Given the description of an element on the screen output the (x, y) to click on. 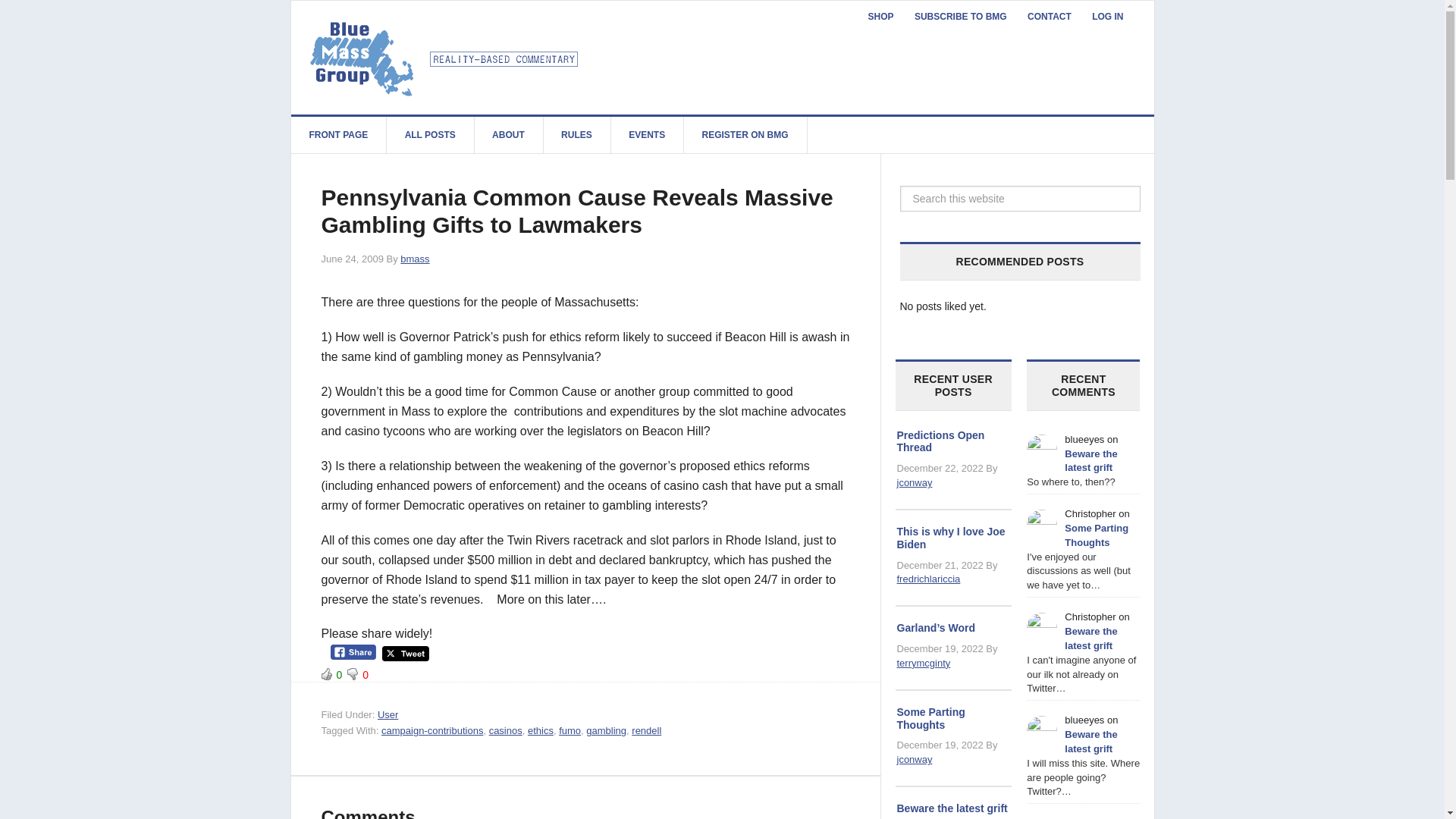
bmass (414, 258)
CONTACT (1048, 16)
EVENTS (647, 135)
jconway (913, 482)
Tweet (405, 653)
casinos (505, 730)
LOG IN (1107, 16)
Facebook Share (353, 652)
BLUE MASS GROUP (445, 57)
RULES (577, 135)
rendell (646, 730)
SHOP (880, 16)
fredrichlariccia (927, 578)
